Given the description of an element on the screen output the (x, y) to click on. 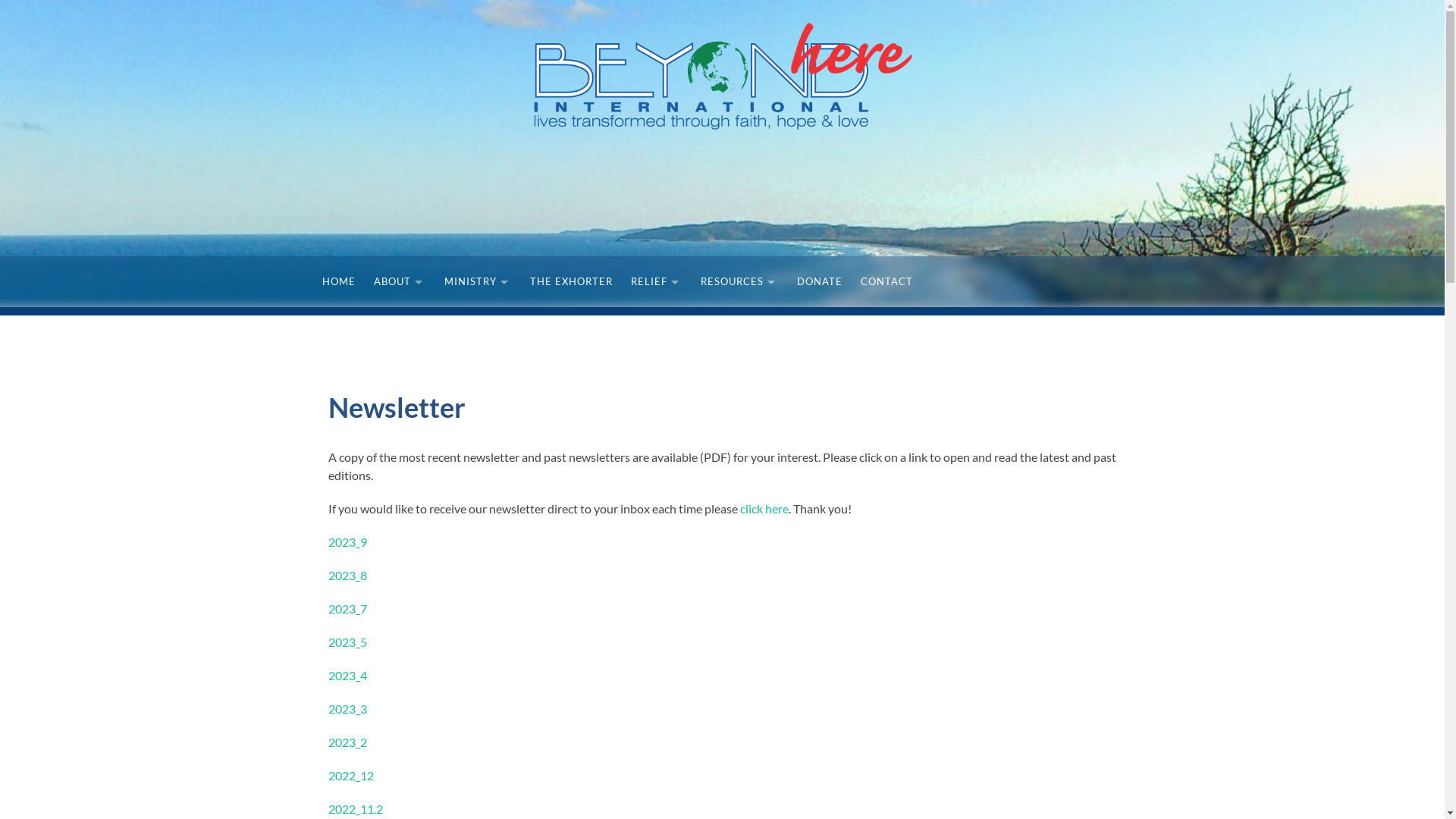
2023_3 Element type: text (346, 708)
2022_12 Element type: text (350, 775)
Beyond Here International Element type: text (721, 75)
2023_8 Element type: text (346, 574)
DONATE Element type: text (818, 281)
2022_11.2 Element type: text (354, 808)
2023_7 Element type: text (346, 608)
CONTACT Element type: text (885, 281)
click here Element type: text (764, 508)
ABOUT Element type: text (399, 281)
2023_2 Element type: text (346, 741)
MINISTRY Element type: text (477, 281)
RELIEF Element type: text (656, 281)
2023_4 Element type: text (346, 675)
THE EXHORTER Element type: text (570, 281)
2023_9 Element type: text (346, 541)
RESOURCES Element type: text (739, 281)
2023_5 Element type: text (346, 641)
HOME Element type: text (338, 281)
